Given the description of an element on the screen output the (x, y) to click on. 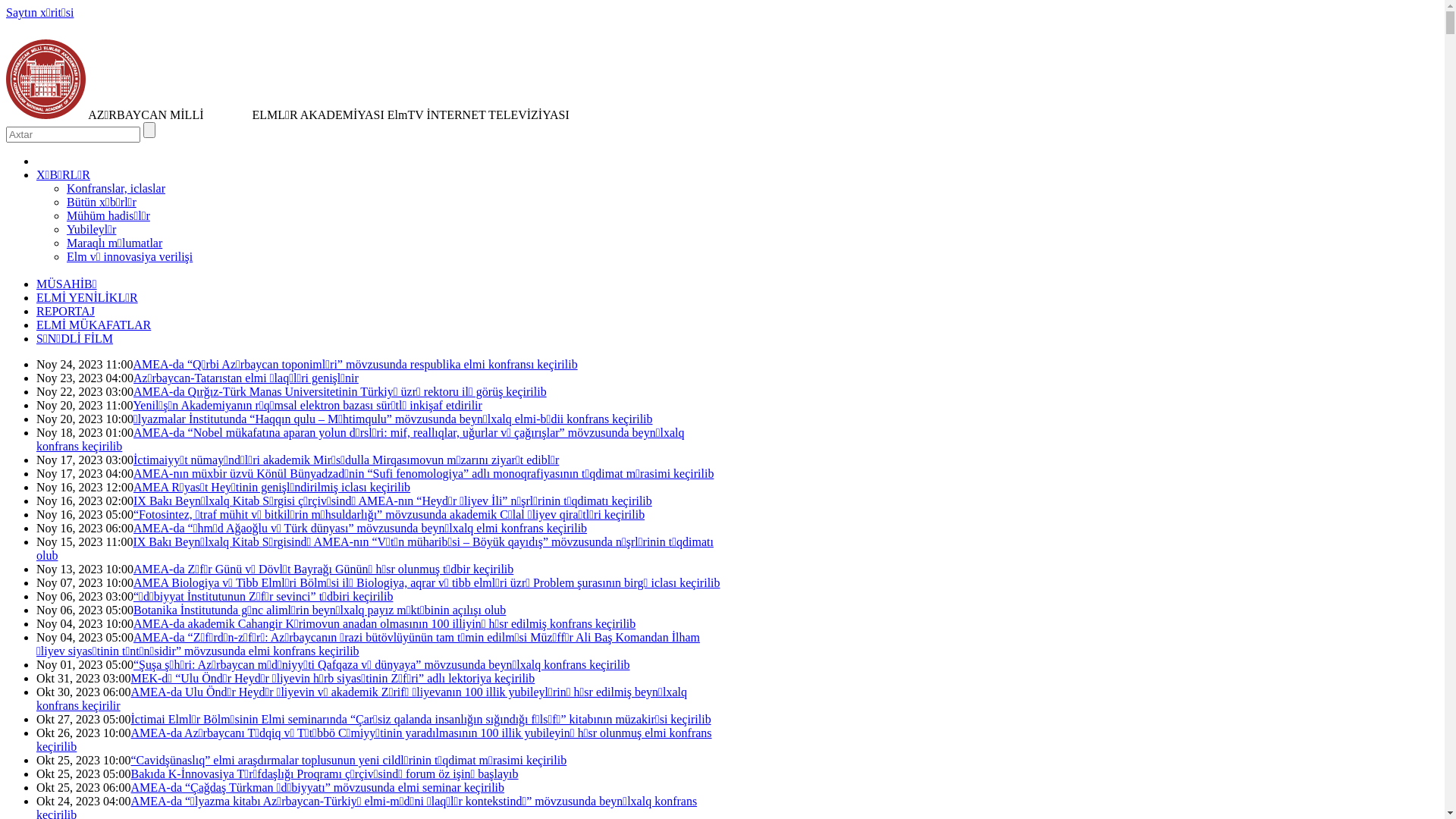
REPORTAJ Element type: text (65, 310)
Konfranslar, iclaslar Element type: text (115, 188)
